Given the description of an element on the screen output the (x, y) to click on. 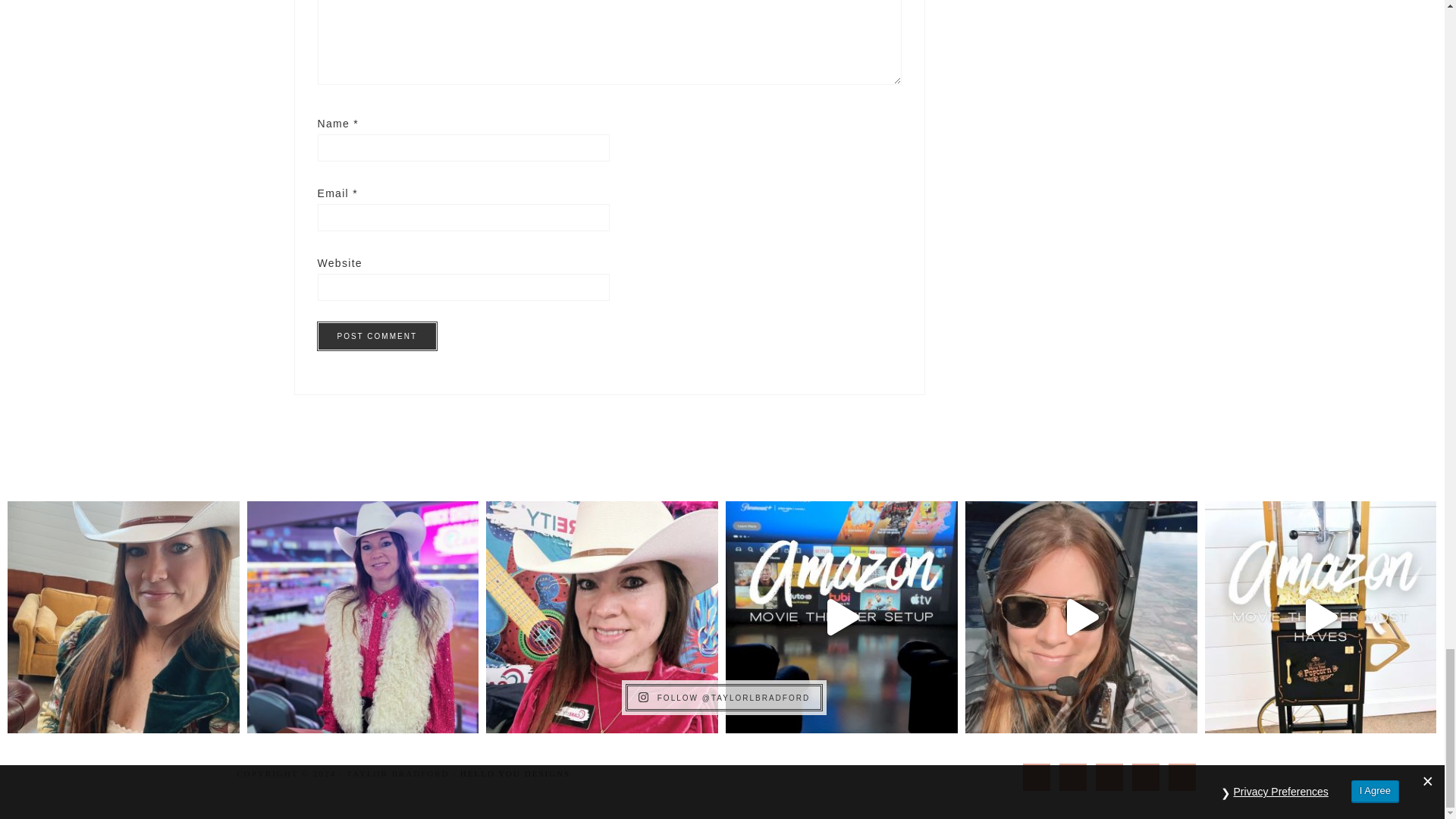
Post Comment (376, 336)
